Given the description of an element on the screen output the (x, y) to click on. 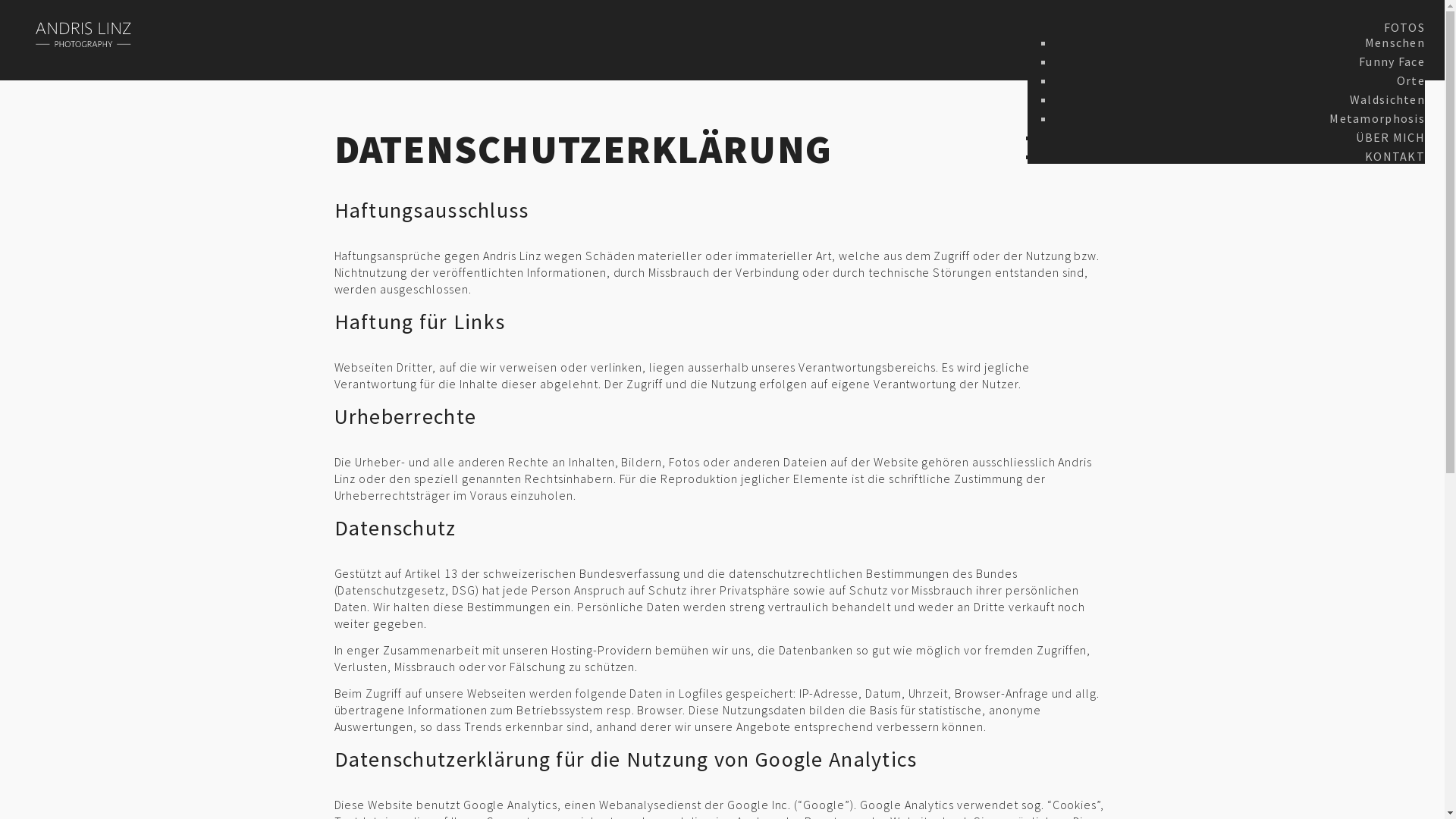
Menschen Element type: text (1394, 42)
KONTAKT Element type: text (1394, 155)
Orte Element type: text (1410, 79)
Funny Face Element type: text (1391, 61)
FOTOS Element type: text (1403, 26)
Metamorphosis Element type: text (1376, 117)
Waldsichten Element type: text (1386, 98)
